Given the description of an element on the screen output the (x, y) to click on. 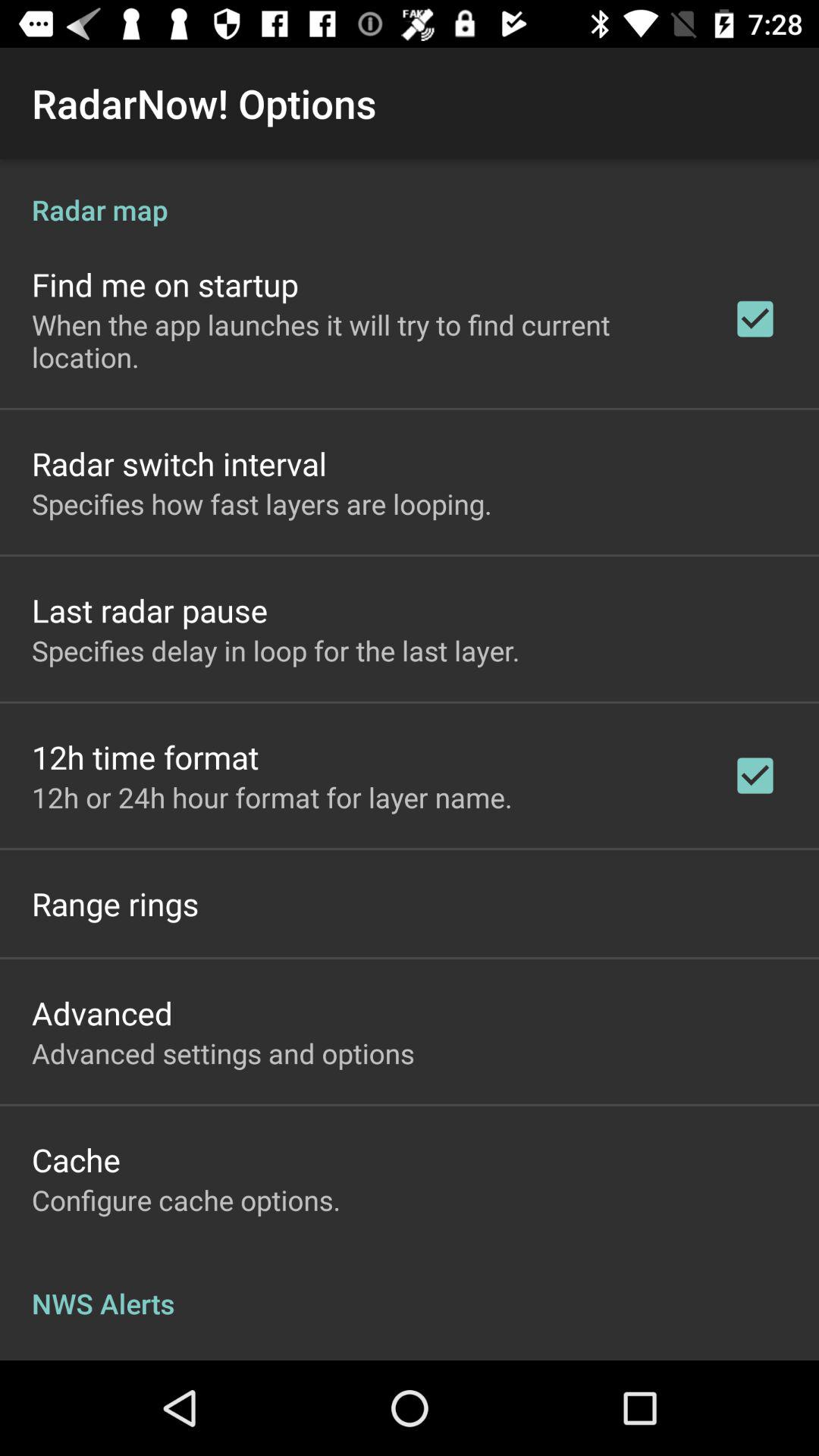
tap item below configure cache options. (409, 1287)
